Given the description of an element on the screen output the (x, y) to click on. 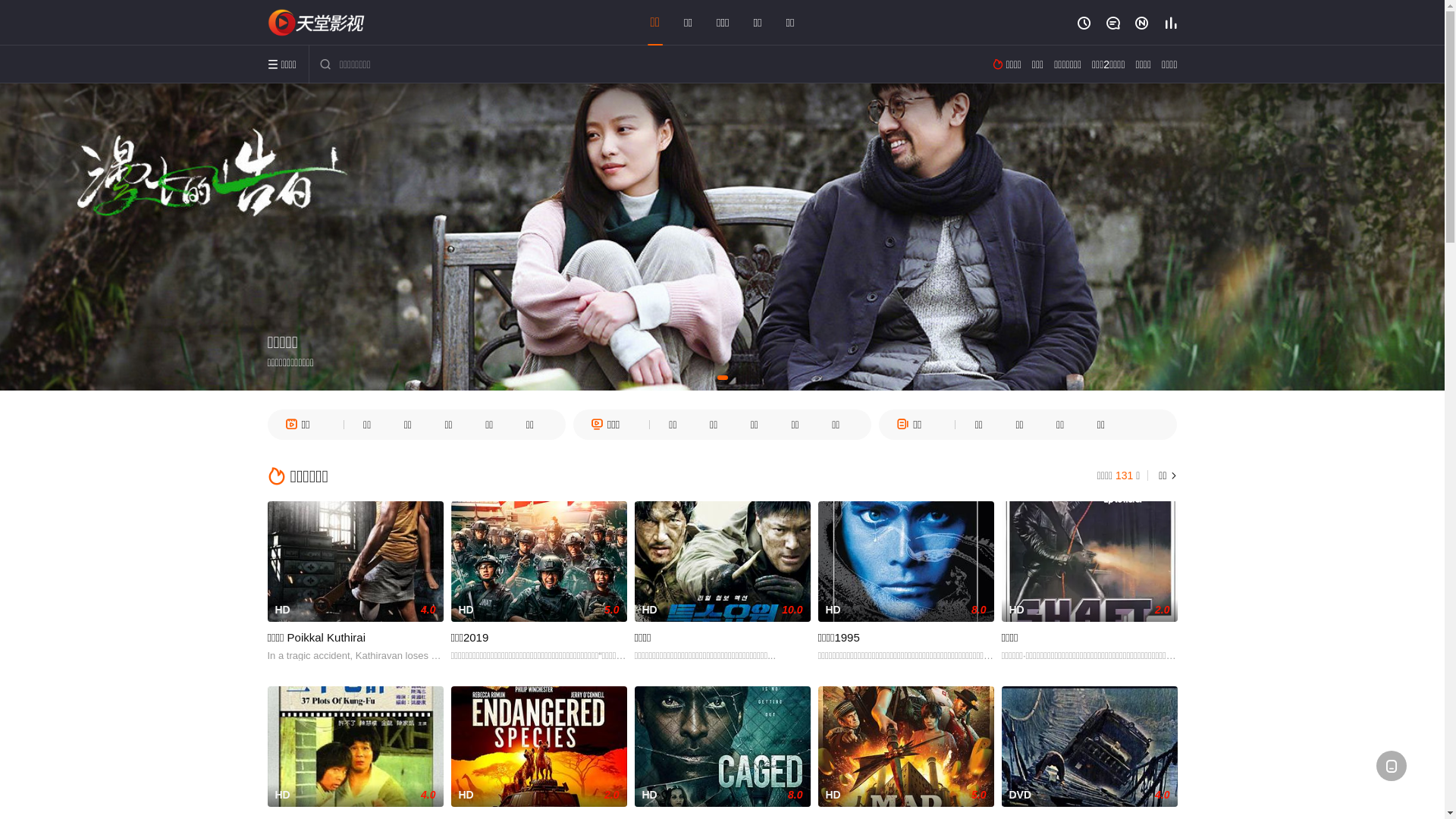
HD
8.0 Element type: text (905, 561)
HD
2.0 Element type: text (1088, 561)
HD
5.0 Element type: text (905, 746)
HD
2.0 Element type: text (538, 746)
HD
4.0 Element type: text (354, 746)
HD
4.0 Element type: text (354, 561)
HD
8.0 Element type: text (721, 746)
HD
10.0 Element type: text (721, 561)
DVD
4.0 Element type: text (1088, 746)
HD
5.0 Element type: text (538, 561)
